Given the description of an element on the screen output the (x, y) to click on. 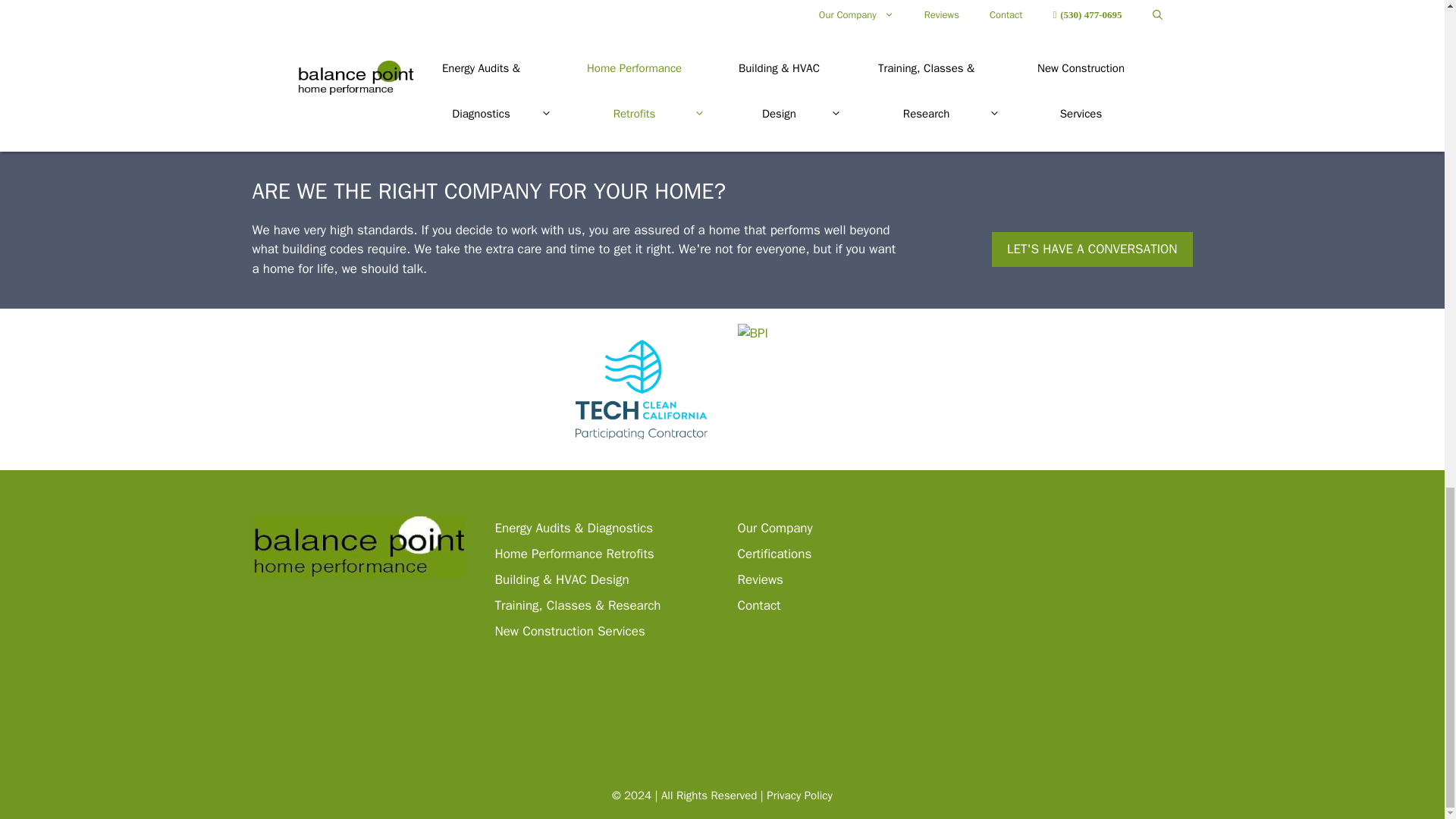
BalancePointHP footer logo (357, 546)
Scroll back to top (1406, 318)
